Given the description of an element on the screen output the (x, y) to click on. 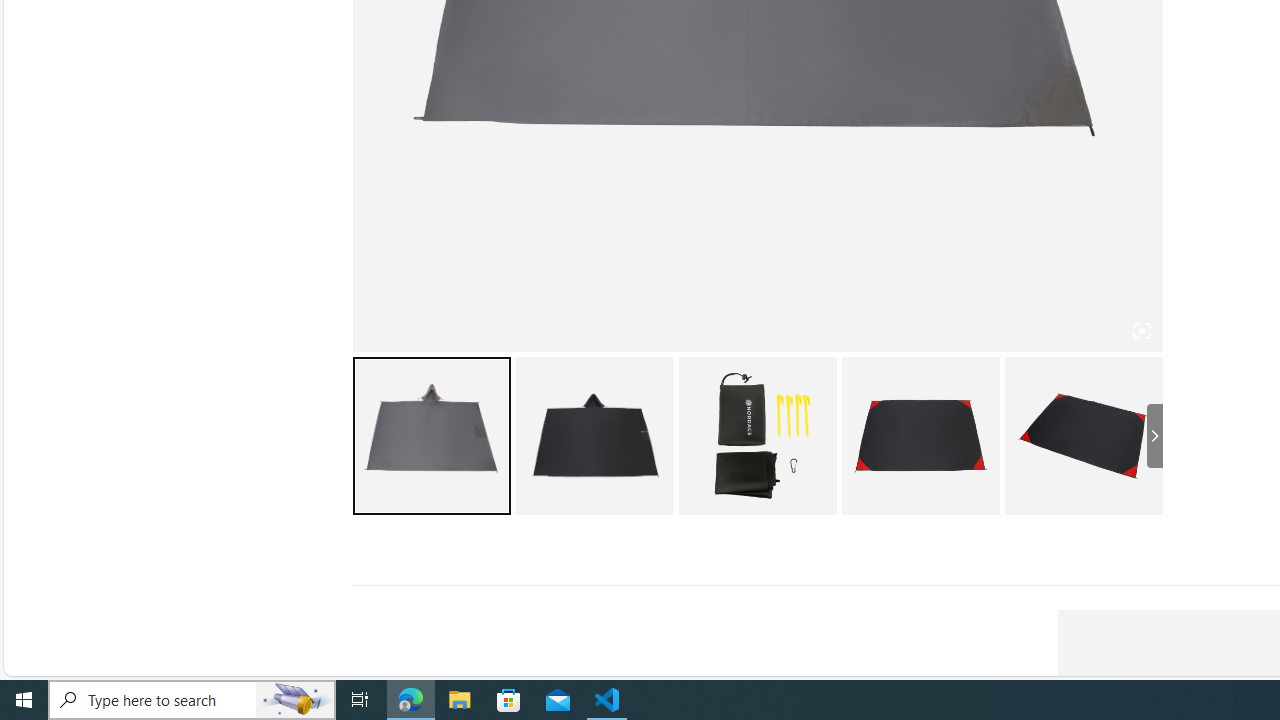
Class: iconic-woothumbs-fullscreen (1140, 331)
